Given the description of an element on the screen output the (x, y) to click on. 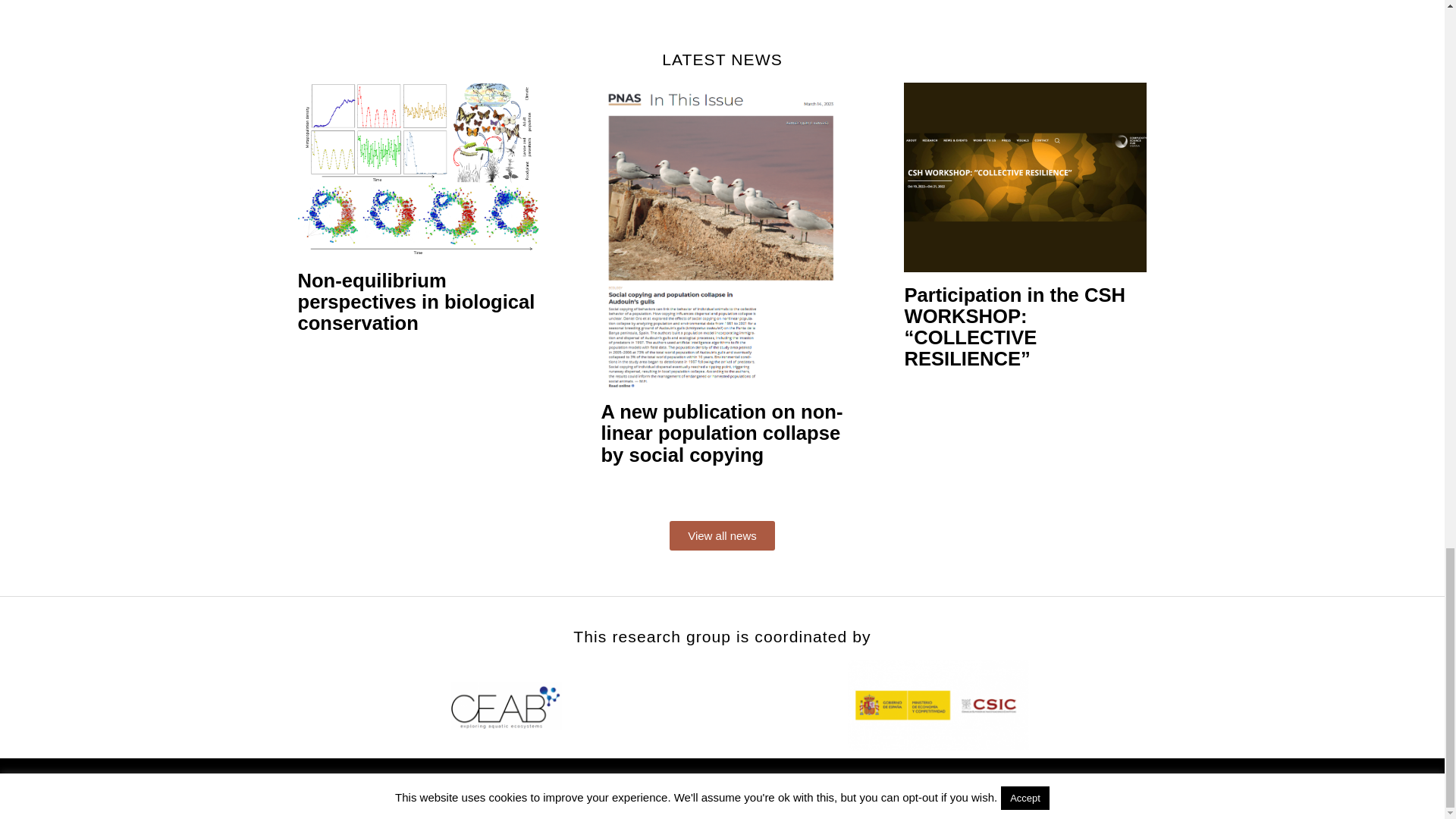
View all news (721, 535)
Terms and Conditions (509, 788)
Non-equilibrium perspectives in biological conservation (418, 301)
Twitter (1129, 788)
